Given the description of an element on the screen output the (x, y) to click on. 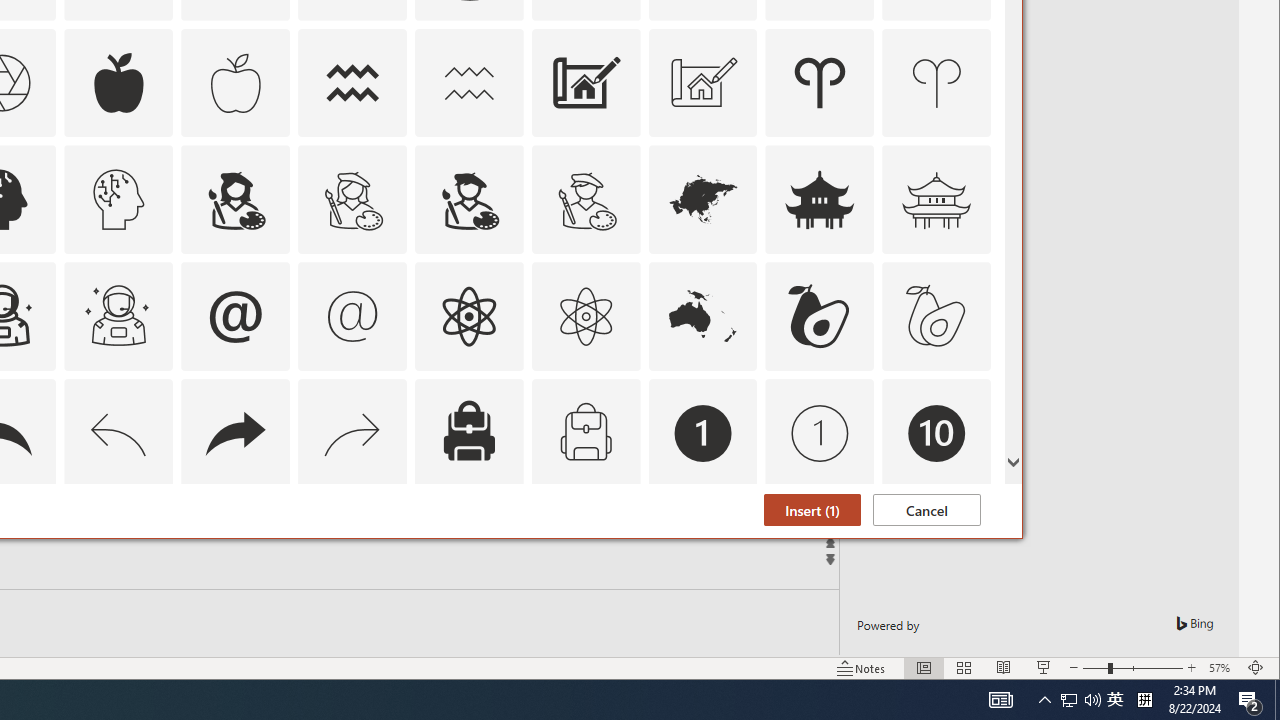
AutomationID: Icons_AsianTemple_M (936, 200)
AutomationID: Icons_Badge9 (819, 550)
AutomationID: Icons_Badge8 (586, 550)
AutomationID: Icons_ArtificialIntelligence_M (118, 200)
AutomationID: Icons_Apple_M (235, 82)
AutomationID: Icons_AstronautMale_M (118, 316)
AutomationID: Icons_Asia (702, 200)
AutomationID: Icons_Aquarius_M (468, 82)
AutomationID: Icons_ArtistMale_M (586, 200)
